Given the description of an element on the screen output the (x, y) to click on. 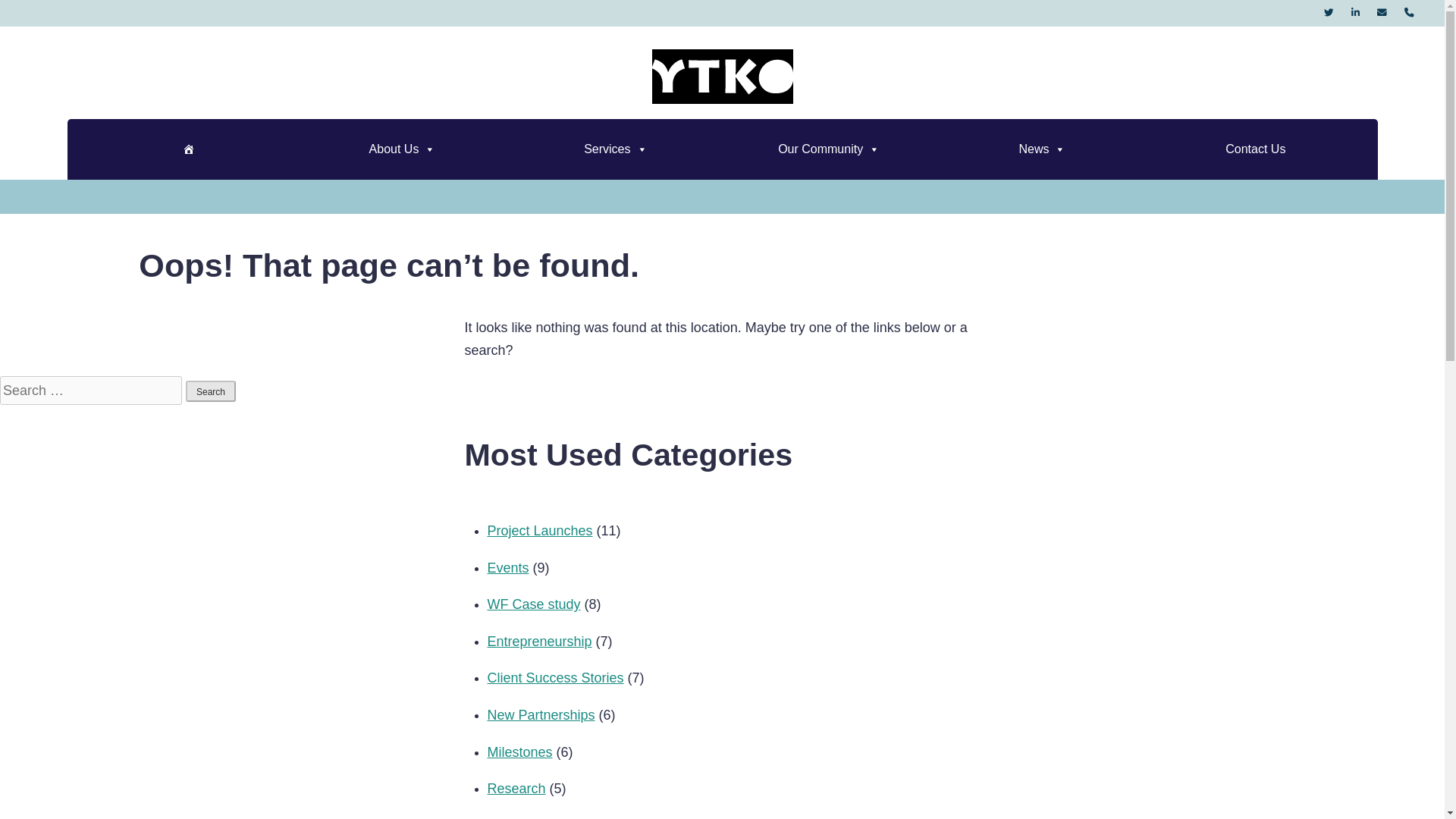
Search (210, 391)
About Us (401, 149)
Services (615, 149)
Send Us a Message (1382, 12)
Search (210, 391)
YTKO (889, 117)
YTKO on Linkedin (1355, 12)
YTKO on Twitter (1328, 12)
Call Us (1409, 12)
